Given the description of an element on the screen output the (x, y) to click on. 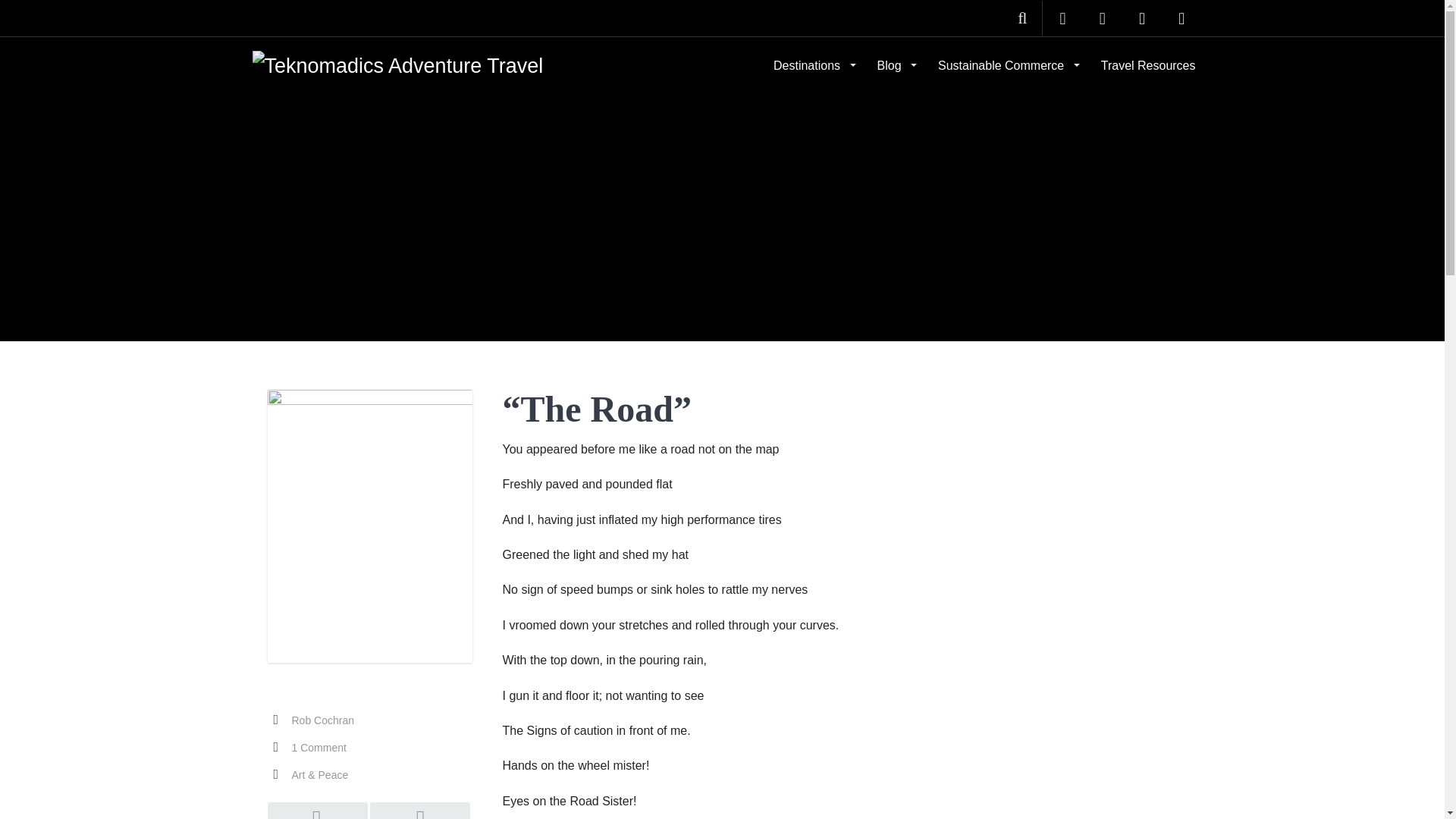
Sustainable Commerce (1007, 64)
Rob Cochran (322, 720)
Blog (894, 64)
Travel Resources (1148, 64)
Posts by Rob Cochran (322, 720)
Teknomadics Adventure Travel (396, 63)
1 Comment (318, 747)
Destinations (812, 64)
